Given the description of an element on the screen output the (x, y) to click on. 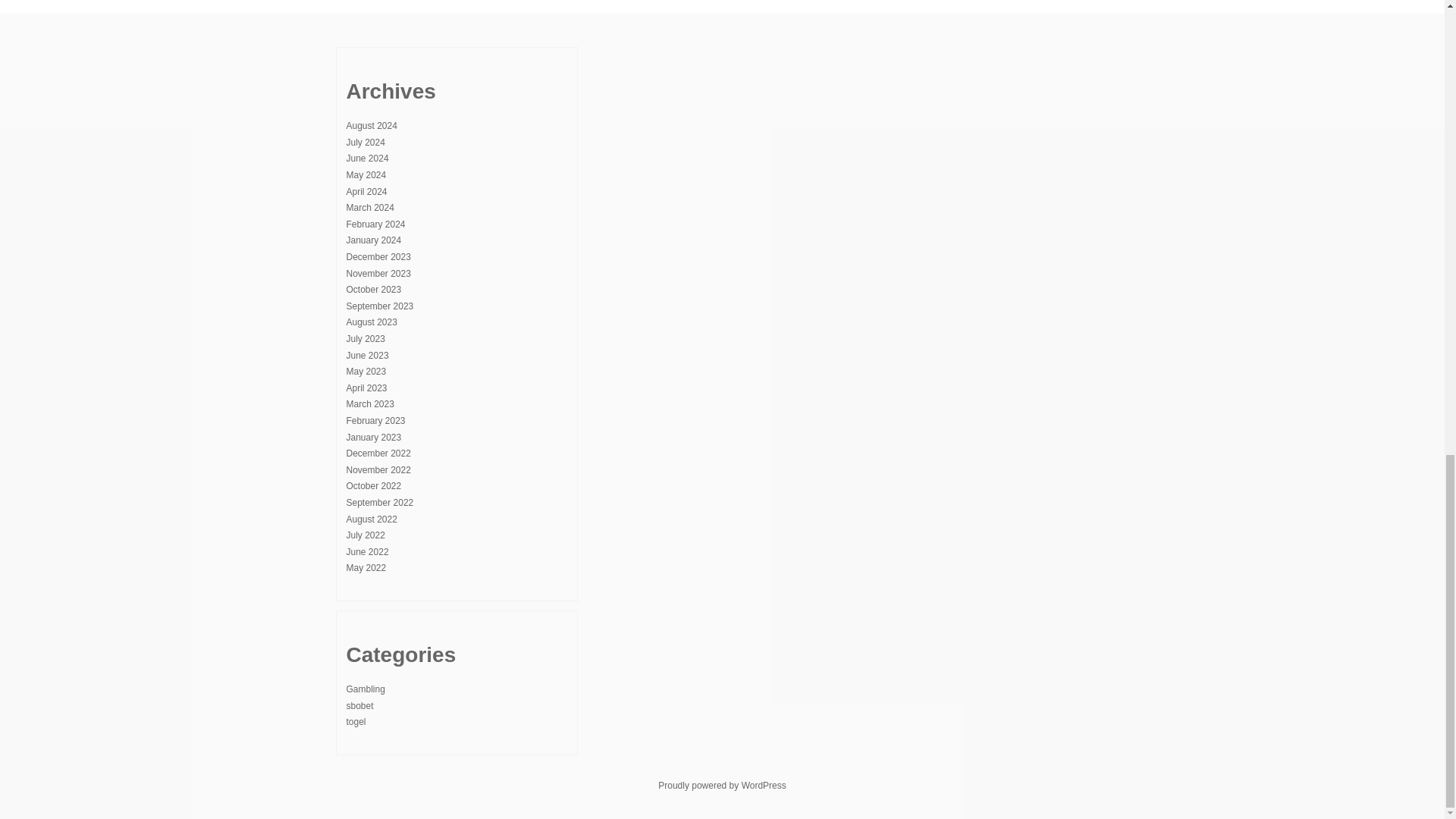
November 2023 (378, 273)
April 2023 (366, 388)
August 2024 (371, 125)
January 2023 (373, 437)
March 2023 (369, 403)
May 2024 (365, 174)
November 2022 (378, 470)
January 2024 (373, 240)
December 2023 (378, 256)
August 2023 (371, 321)
July 2024 (365, 142)
October 2023 (373, 289)
September 2023 (379, 306)
February 2024 (375, 224)
December 2022 (378, 452)
